Given the description of an element on the screen output the (x, y) to click on. 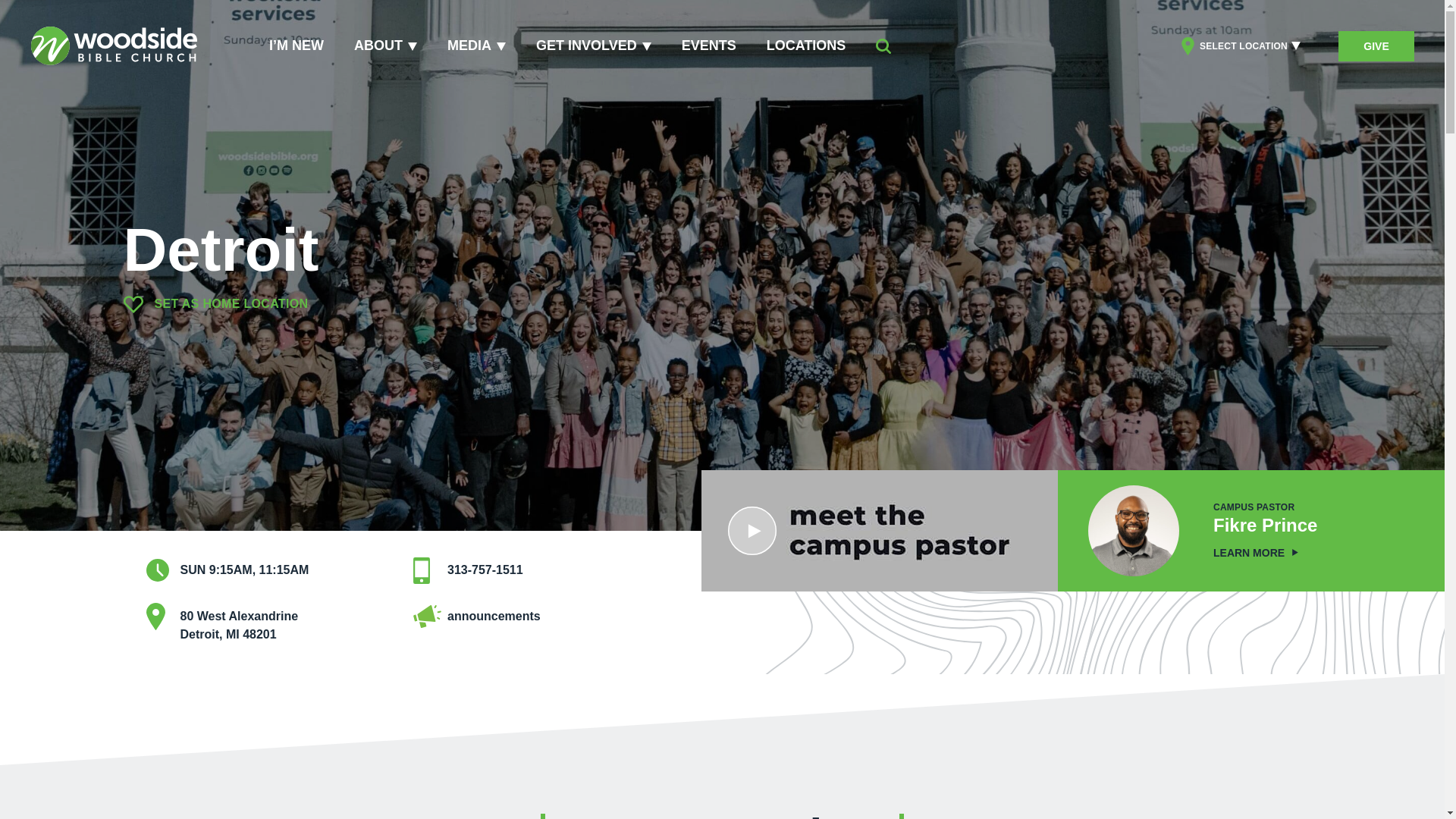
MEDIA (476, 45)
SET AS HOME LOCATION (214, 303)
GIVE (1375, 45)
Search (883, 45)
313-757-1511 (484, 569)
ABOUT (385, 45)
SELECT LOCATION (1240, 45)
announcements (493, 615)
Woodside Bible Church (113, 45)
LEARN MORE (1255, 552)
LOCATIONS (239, 624)
GET INVOLVED (806, 45)
EVENTS (593, 45)
